Given the description of an element on the screen output the (x, y) to click on. 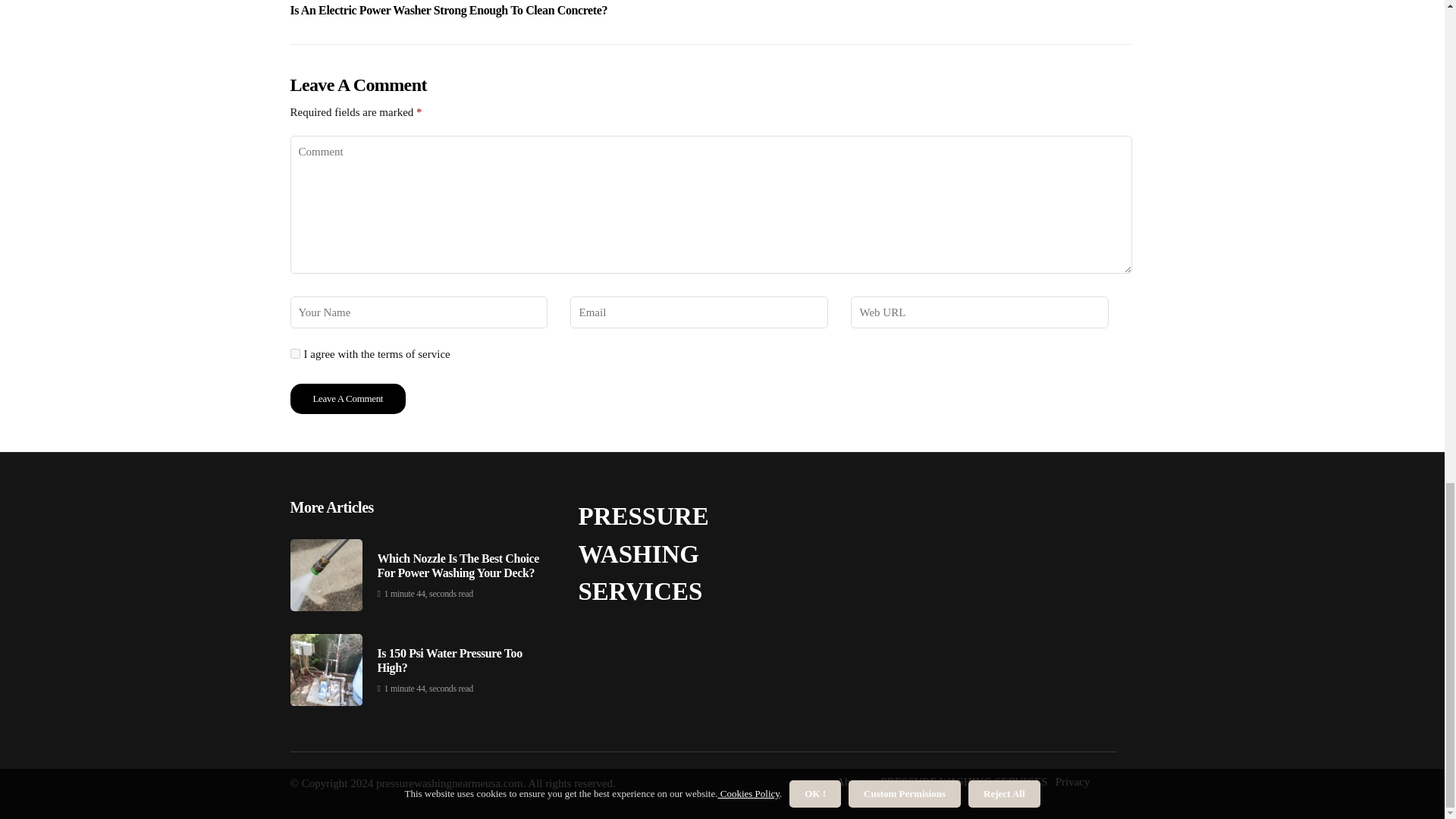
Leave a Comment (347, 399)
yes (294, 353)
Leave a Comment (347, 399)
